Given the description of an element on the screen output the (x, y) to click on. 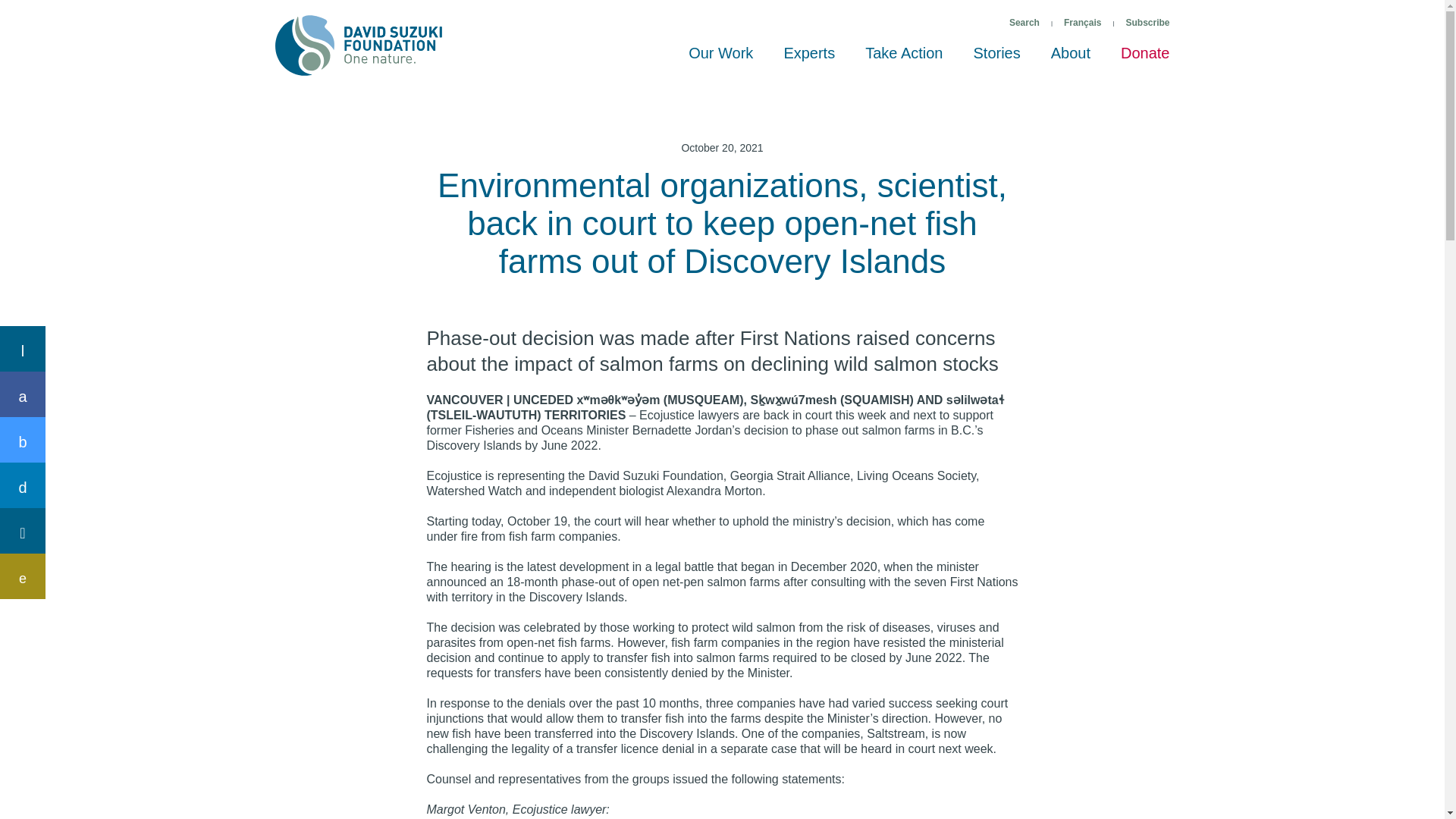
Experts (809, 60)
Subscribe (1146, 22)
Search (1024, 22)
Take Action (904, 60)
About (1070, 60)
Donate (1145, 60)
Stories (996, 60)
Our Work (720, 60)
